Given the description of an element on the screen output the (x, y) to click on. 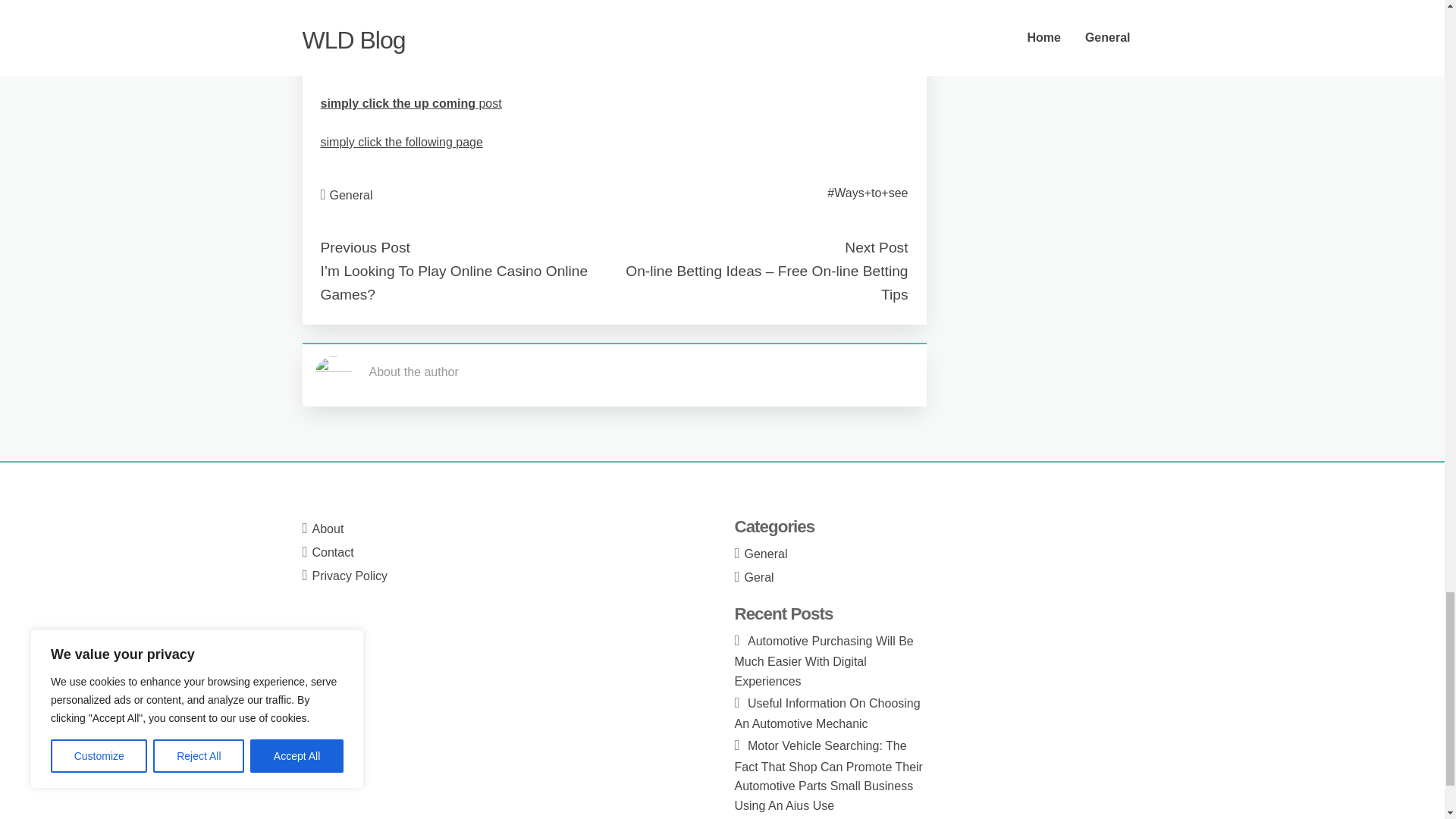
General (351, 195)
About (328, 528)
simply click the following page (400, 141)
General (765, 553)
Privacy Policy (350, 575)
Next Post (875, 247)
Please click the following webpage (413, 65)
simply click the up coming post (410, 103)
Contact (333, 552)
Previous Post (364, 247)
